Given the description of an element on the screen output the (x, y) to click on. 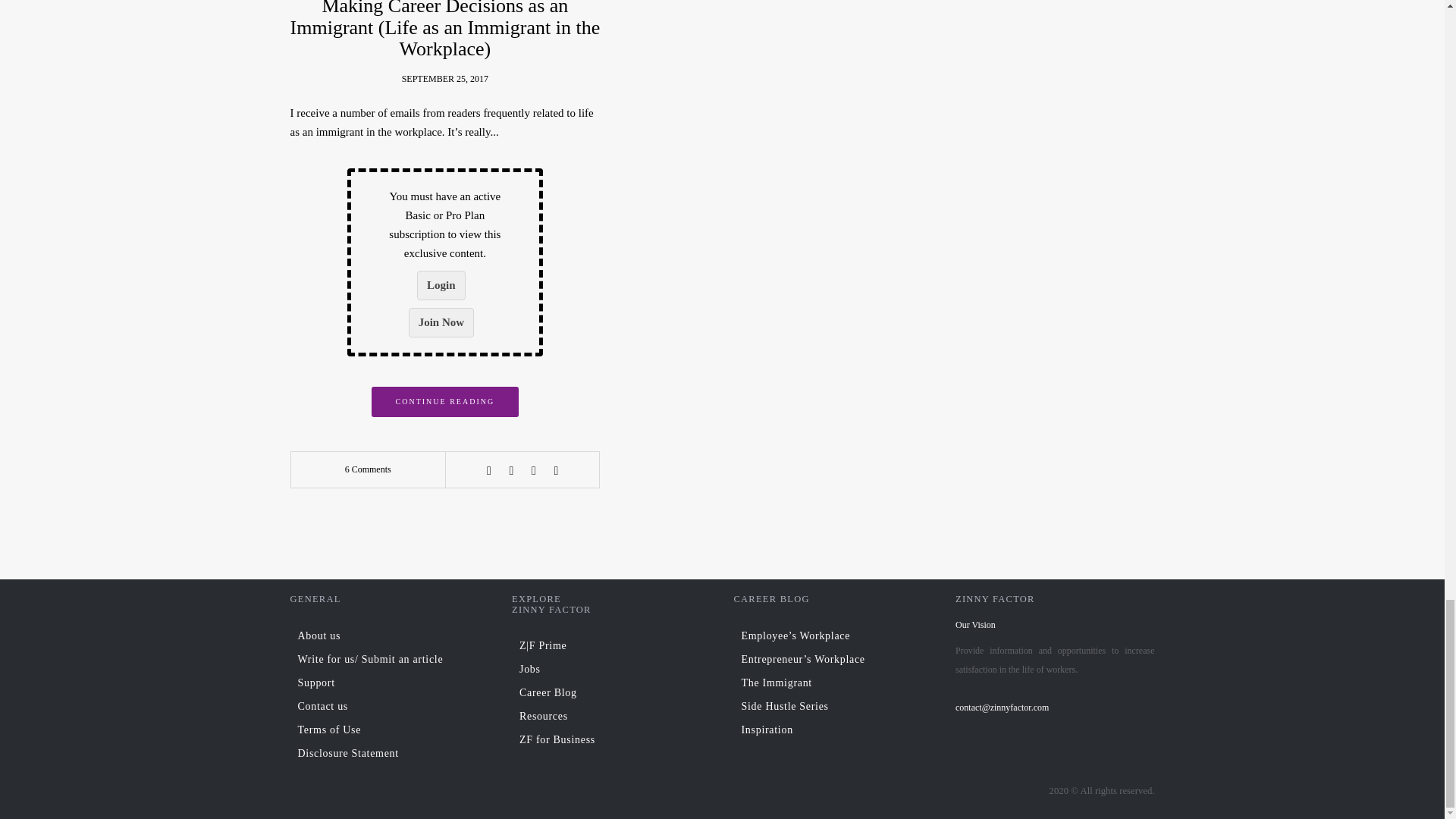
Tweet this (510, 470)
Share with Google Plus (533, 470)
Pin this (556, 470)
Share this (489, 470)
